Given the description of an element on the screen output the (x, y) to click on. 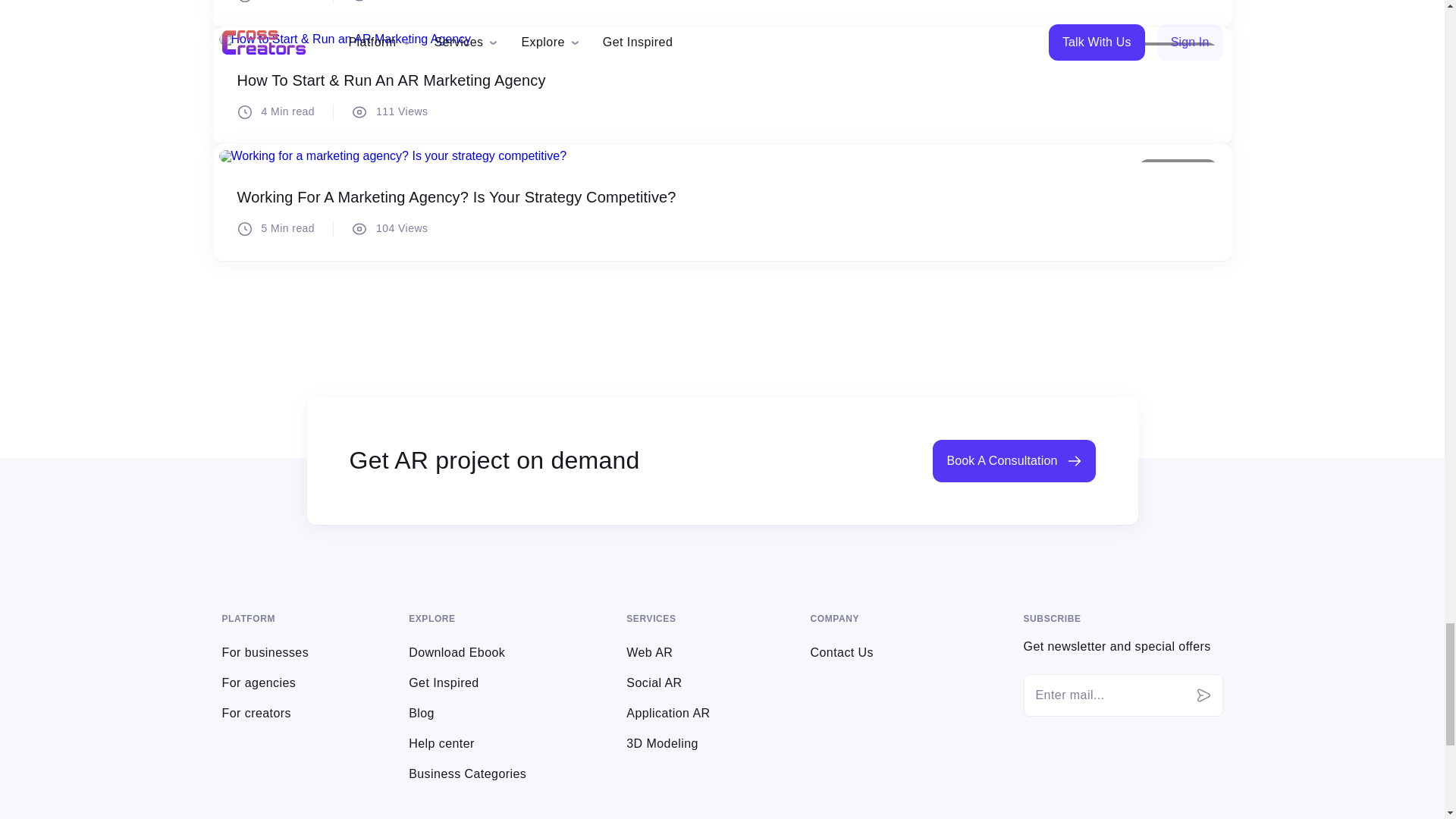
For agencies (258, 682)
Book A Consultation (1013, 460)
For businesses (264, 652)
